Given the description of an element on the screen output the (x, y) to click on. 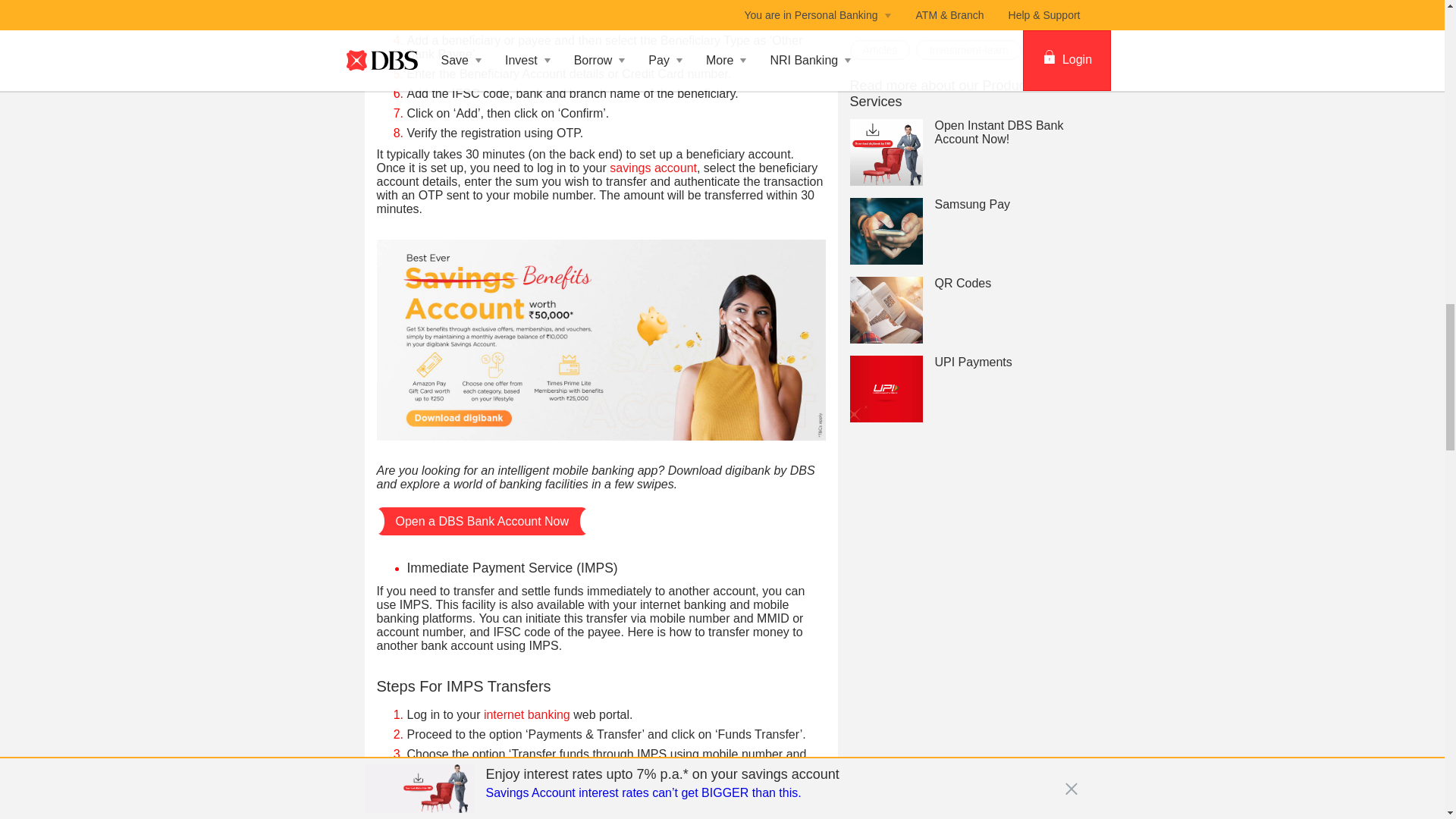
Open a DBS Bank Account Now (481, 520)
how-to-transfer-money-to-another-bank-account (600, 340)
how-to-transfer-money-to-another-bank-account (600, 338)
internet banking (526, 714)
savings account (653, 167)
